Given the description of an element on the screen output the (x, y) to click on. 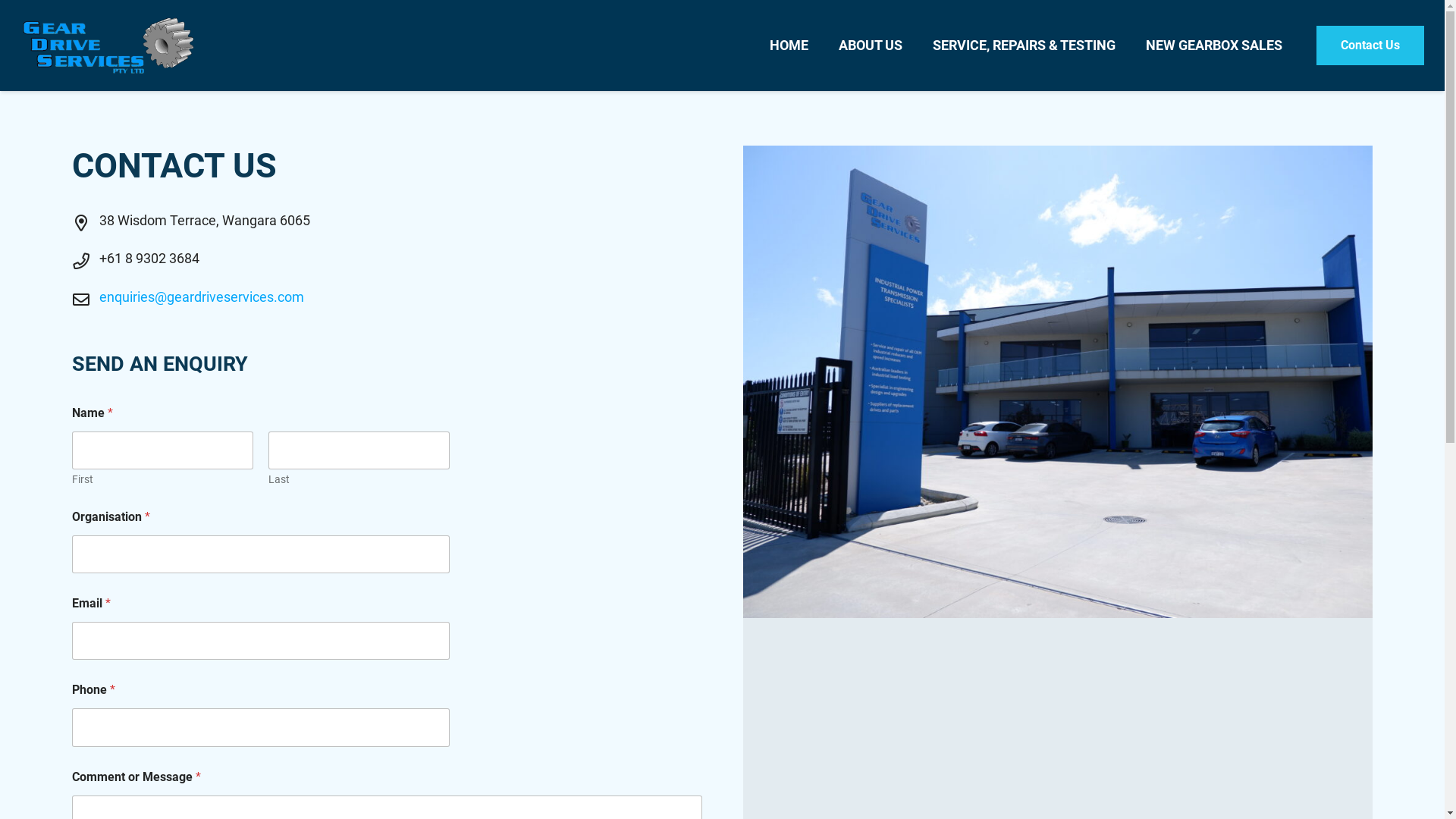
SERVICE, REPAIRS & TESTING Element type: text (1023, 45)
HOME Element type: text (788, 45)
ABOUT US Element type: text (870, 45)
enquiries@geardriveservices.com Element type: text (201, 296)
Contact Us Element type: text (1370, 44)
NEW GEARBOX SALES Element type: text (1213, 45)
